Given the description of an element on the screen output the (x, y) to click on. 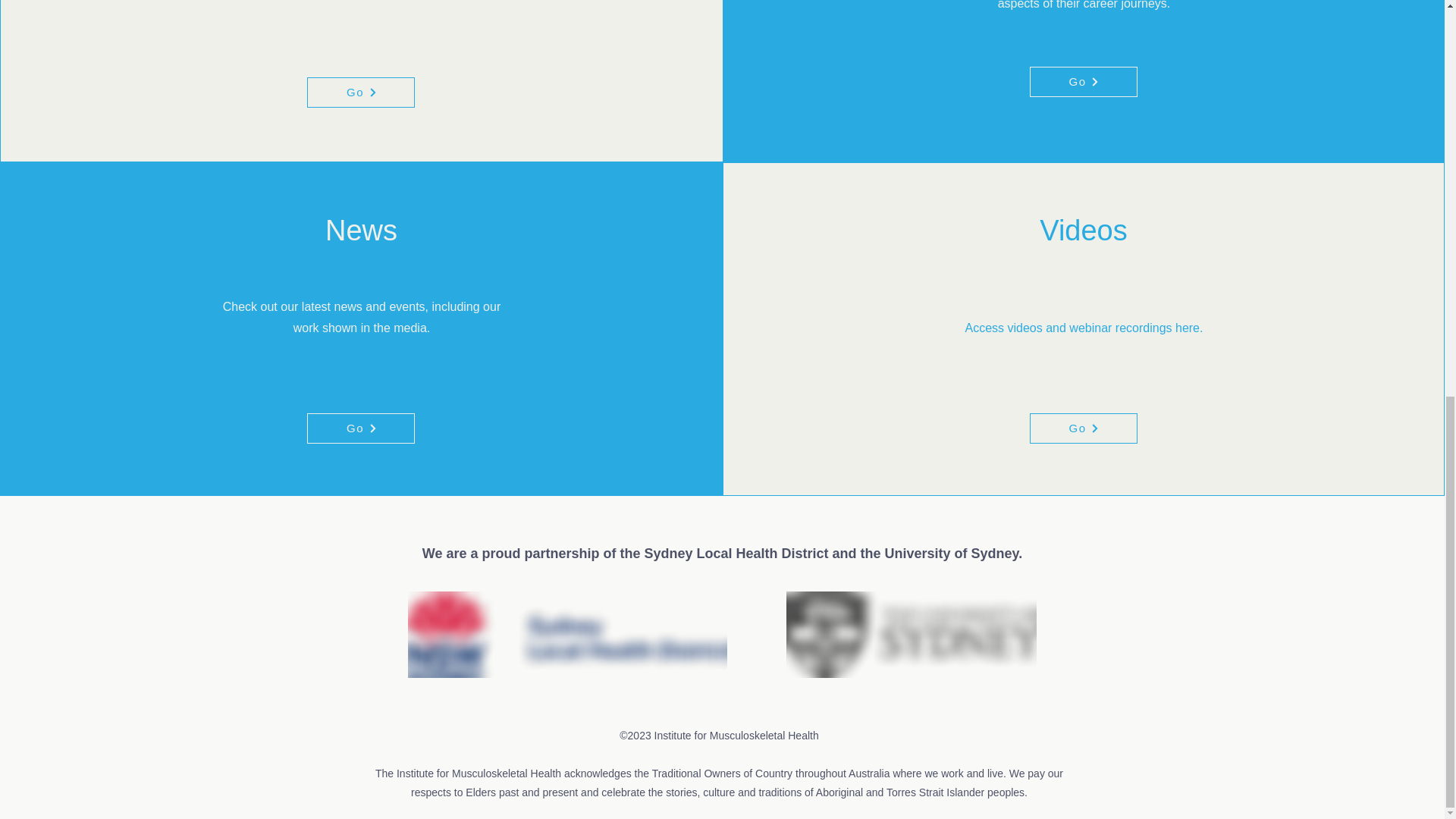
Go (360, 91)
Go (360, 427)
Go (1083, 427)
PRIMARY-SydneyLHD-logo.png (566, 634)
USYD logo.png (910, 634)
Go (1083, 81)
